Given the description of an element on the screen output the (x, y) to click on. 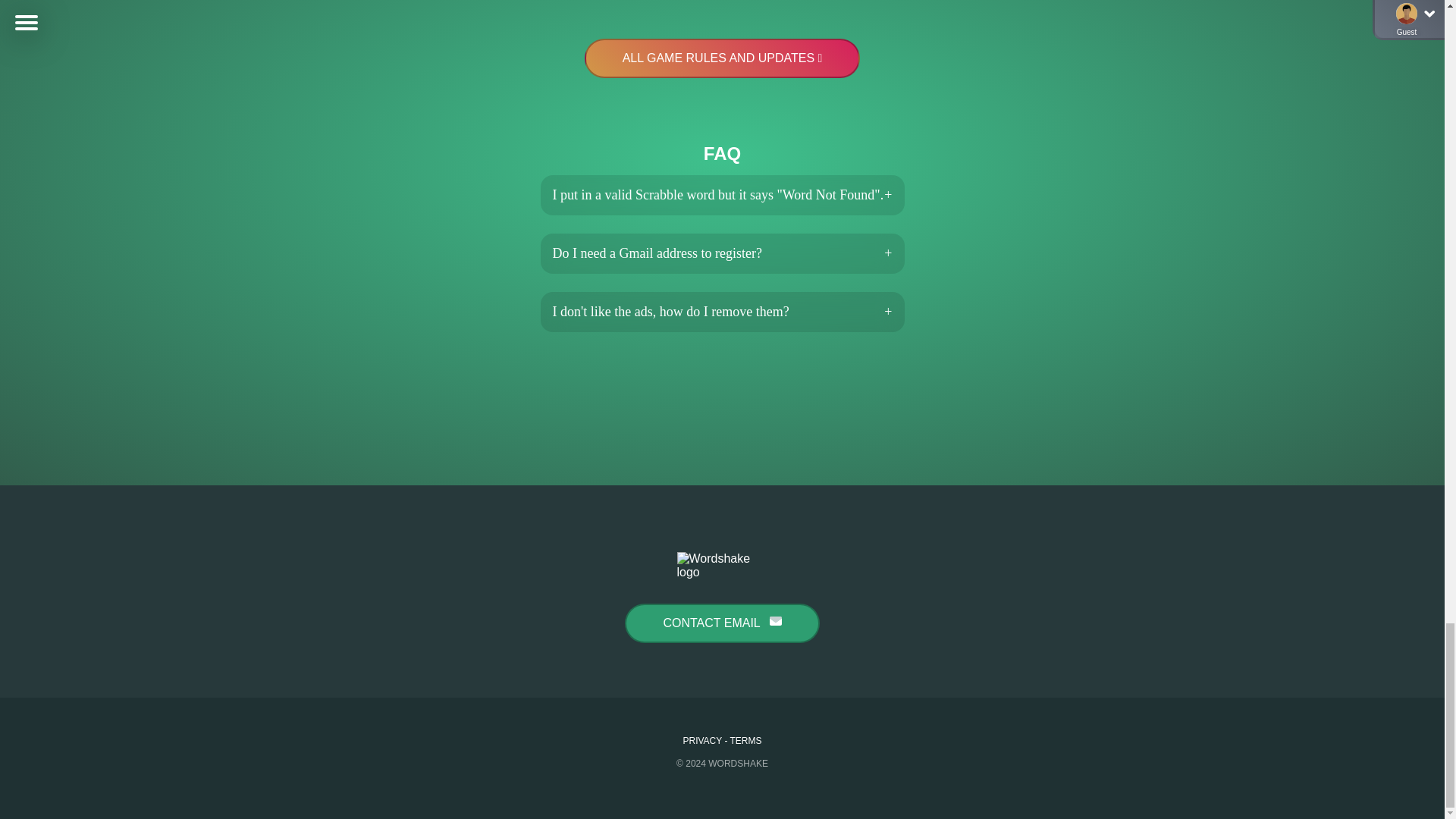
CONTACT EMAIL (721, 622)
PRIVACY - TERMS (721, 740)
